Given the description of an element on the screen output the (x, y) to click on. 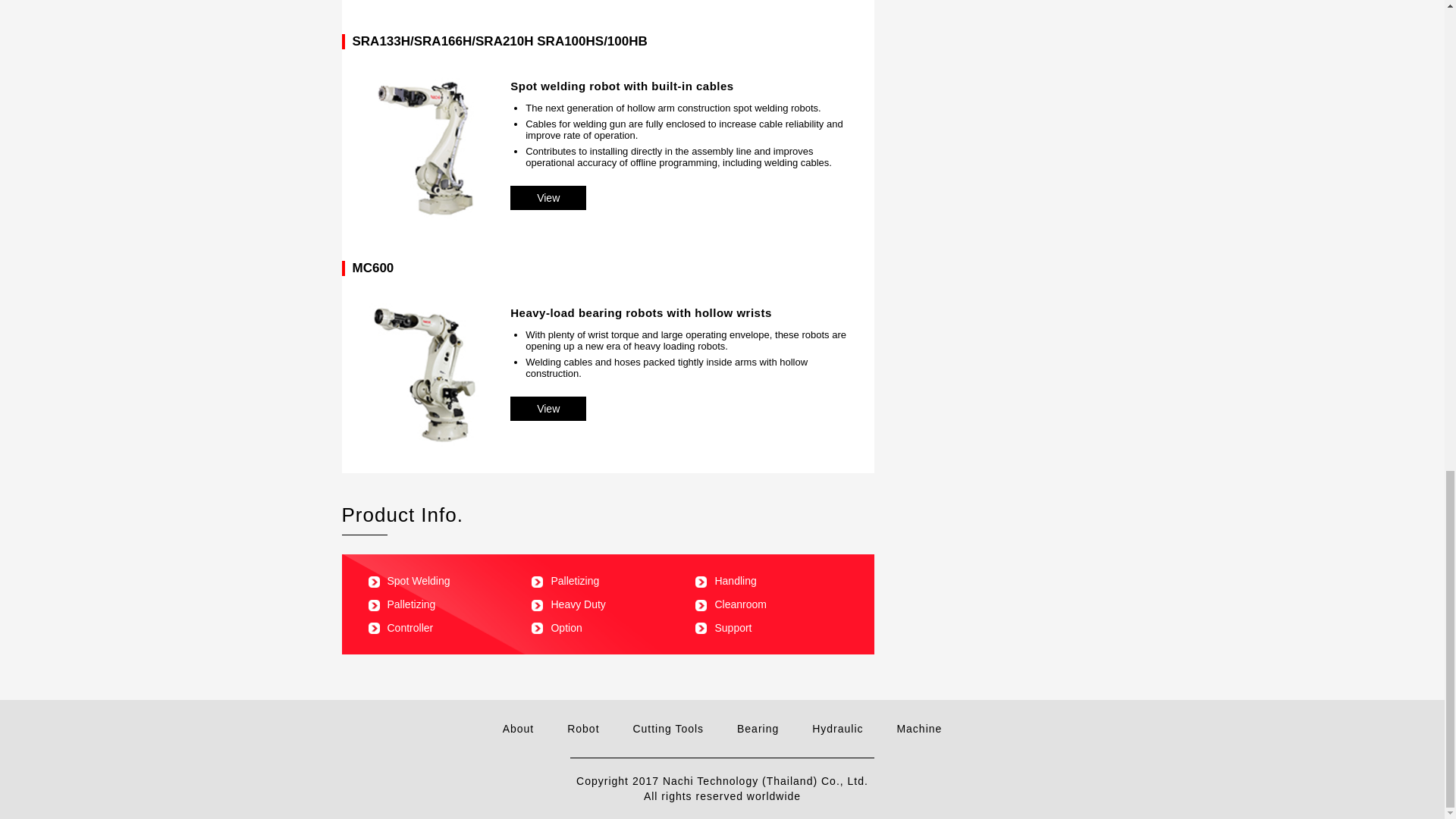
Support (723, 627)
Handling (725, 580)
Cleanroom (730, 604)
View (548, 197)
Bearing (757, 728)
Robot (582, 728)
Spot Welding (408, 580)
Machine (919, 728)
Option (555, 627)
About (518, 728)
Controller (400, 627)
View (548, 408)
Cutting Tools (667, 728)
Heavy Duty (568, 604)
Palletizing (564, 580)
